Given the description of an element on the screen output the (x, y) to click on. 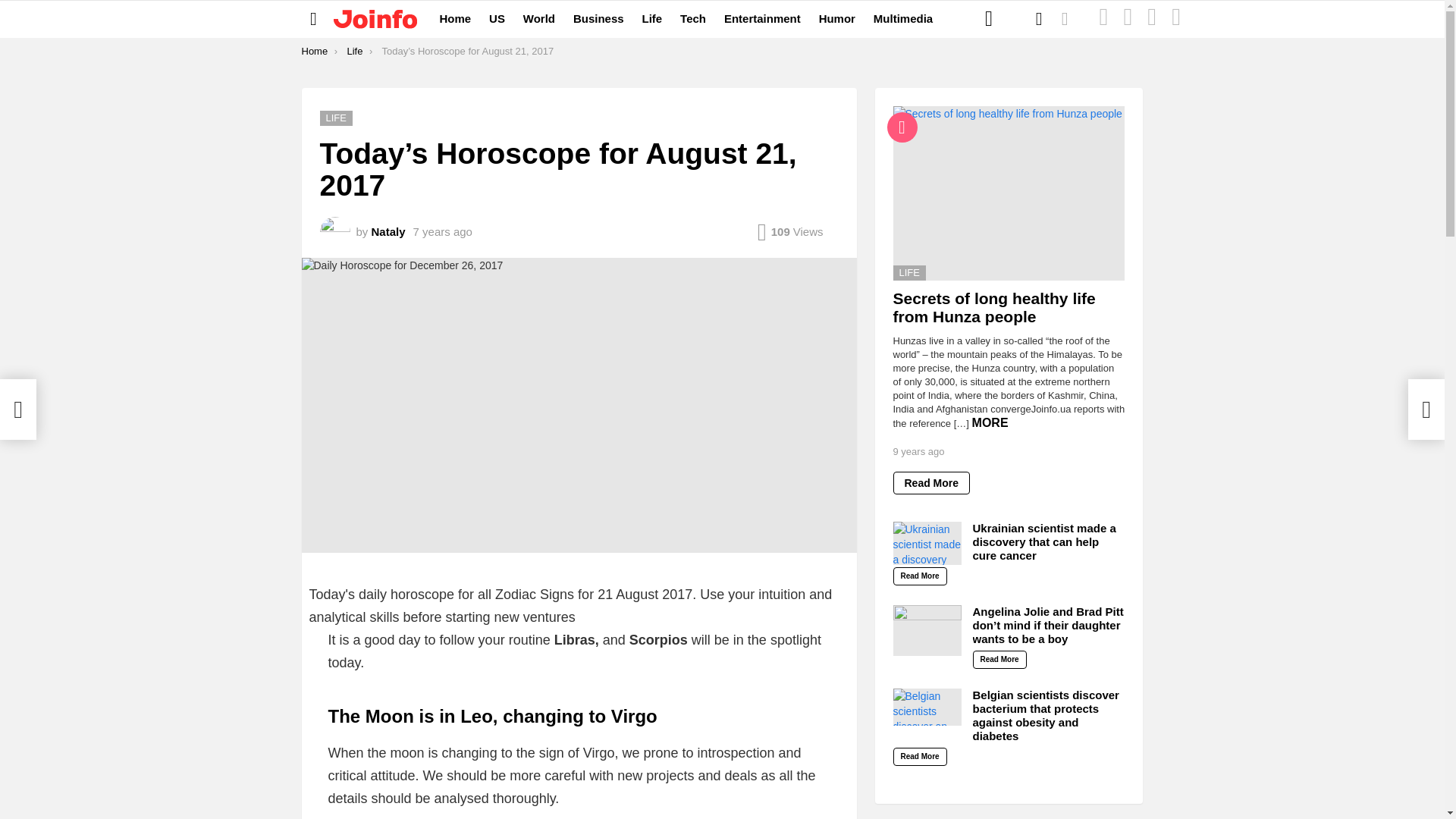
POPULAR (1127, 18)
World (538, 18)
Multimedia (903, 18)
TRENDING (1176, 18)
Business (598, 18)
Menu (313, 18)
21.08.2017, 3:33 am (442, 232)
Tech (692, 18)
Posts by Nataly (388, 231)
